Given the description of an element on the screen output the (x, y) to click on. 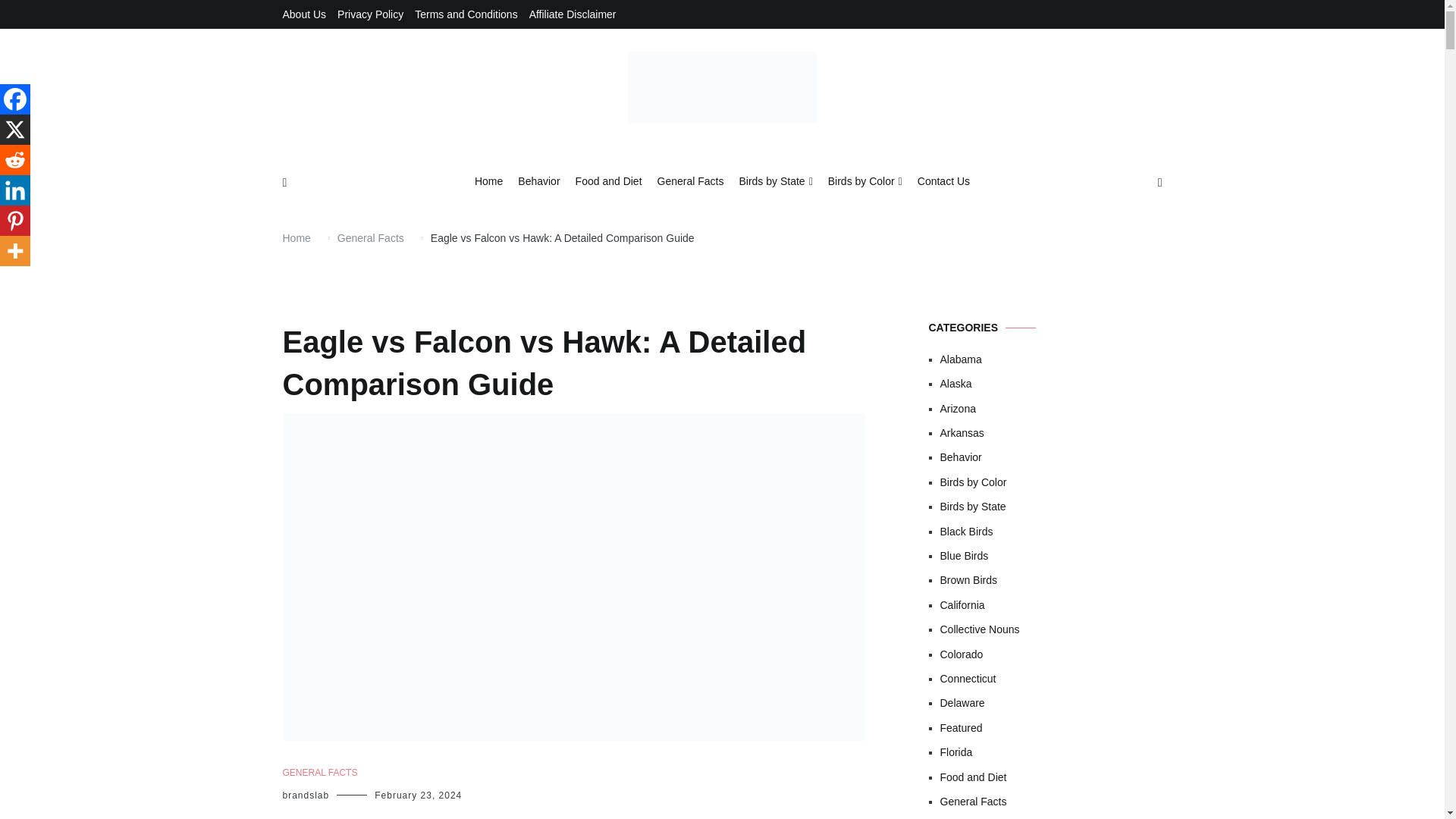
Food and Diet (608, 181)
Birds by Color (865, 181)
Contact Us (943, 181)
Reddit (15, 159)
Behavior (538, 181)
Linkedin (15, 190)
More (15, 250)
Birds by State (775, 181)
General Facts (690, 181)
Facebook (15, 99)
